Given the description of an element on the screen output the (x, y) to click on. 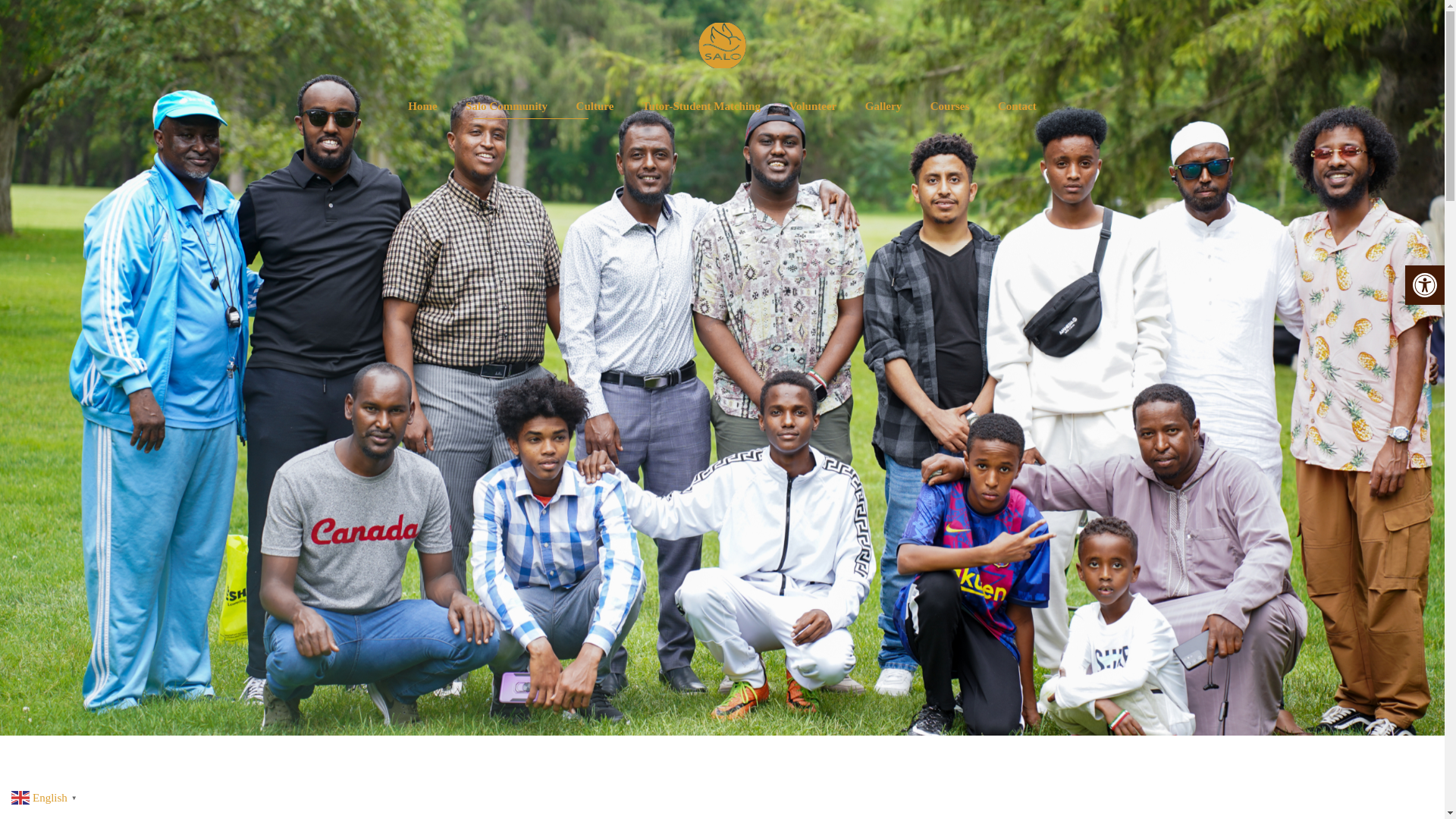
Courses (949, 106)
Contact (1016, 106)
Accessibility Tools (1424, 284)
Home (422, 106)
Salo Community (506, 106)
Tutor-Student Matching (700, 106)
Culture (594, 106)
Volunteer (812, 106)
Gallery (882, 106)
